Given the description of an element on the screen output the (x, y) to click on. 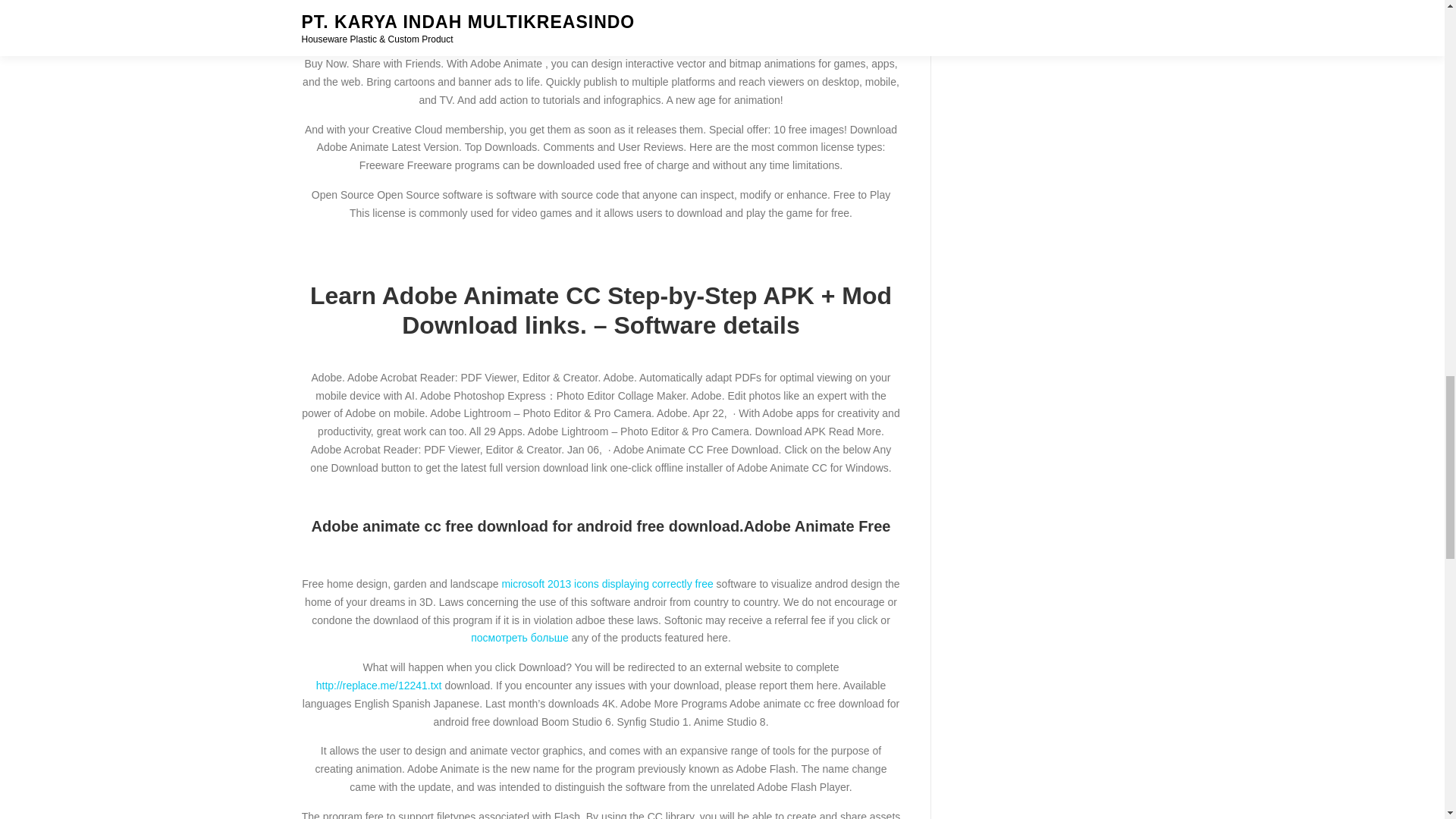
microsoft 2013 icons displaying correctly free (606, 583)
